Given the description of an element on the screen output the (x, y) to click on. 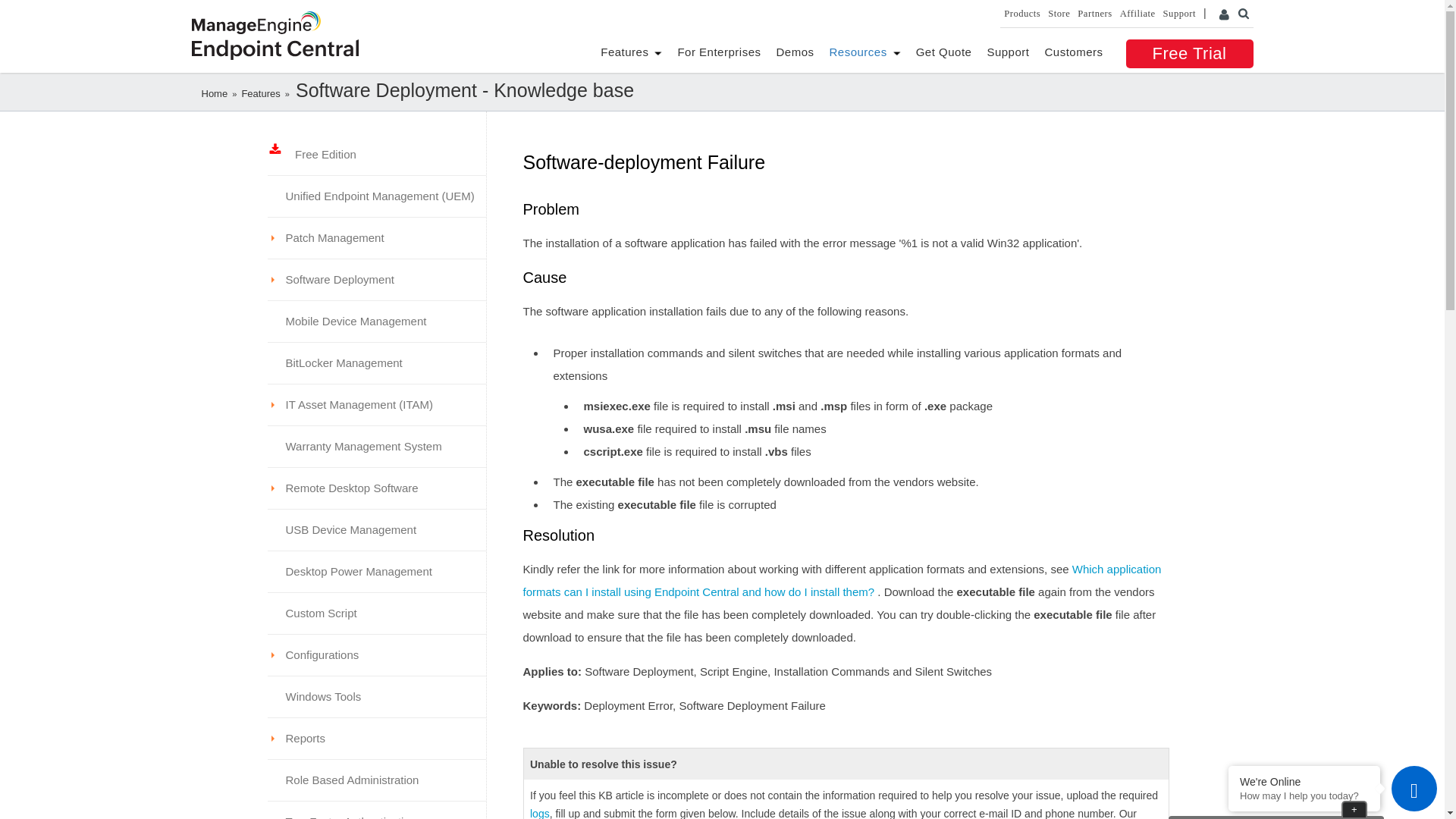
Support (1008, 51)
Unified Endpoint Management - ManageEngine Endpoint Central (274, 49)
Demos (794, 51)
Features - ManageEngine Mobile Device Manager Plus (623, 51)
Software Deployment (375, 279)
Resources - ManageEngine Mobile Device Manager Plus (857, 51)
Customers (1072, 51)
Free Trial ManageEngine Endpoint Central (1188, 53)
Free Edition (320, 154)
Patch Management (375, 237)
Get Quote (943, 51)
